Given the description of an element on the screen output the (x, y) to click on. 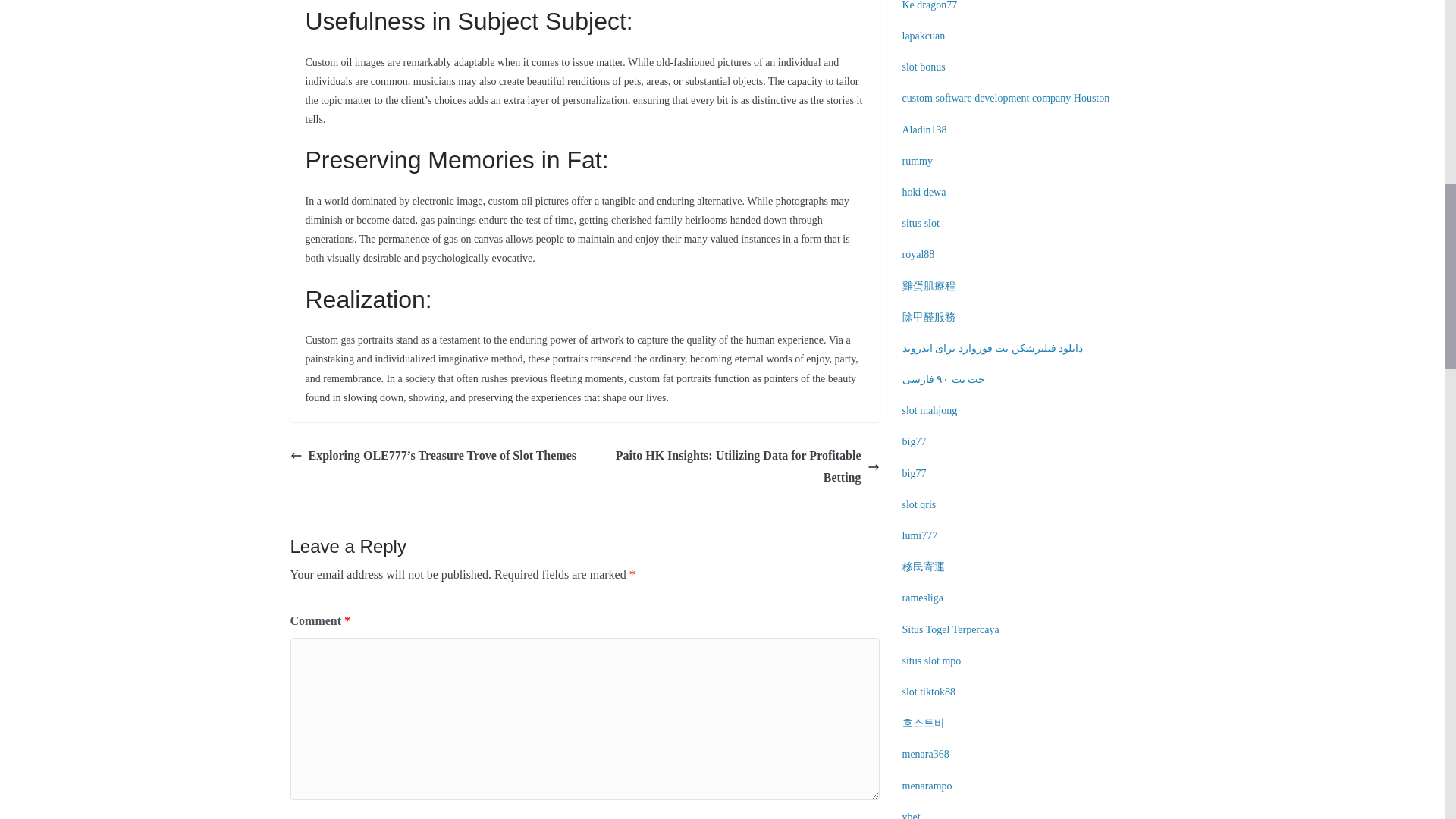
rummy (917, 161)
hoki dewa (924, 192)
Paito HK Insights: Utilizing Data for Profitable Betting (735, 466)
slot bonus (923, 66)
custom software development company Houston (1005, 98)
Aladin138 (924, 129)
royal88 (918, 254)
situs slot (920, 223)
Ke dragon77 (930, 5)
lapakcuan (923, 35)
